Given the description of an element on the screen output the (x, y) to click on. 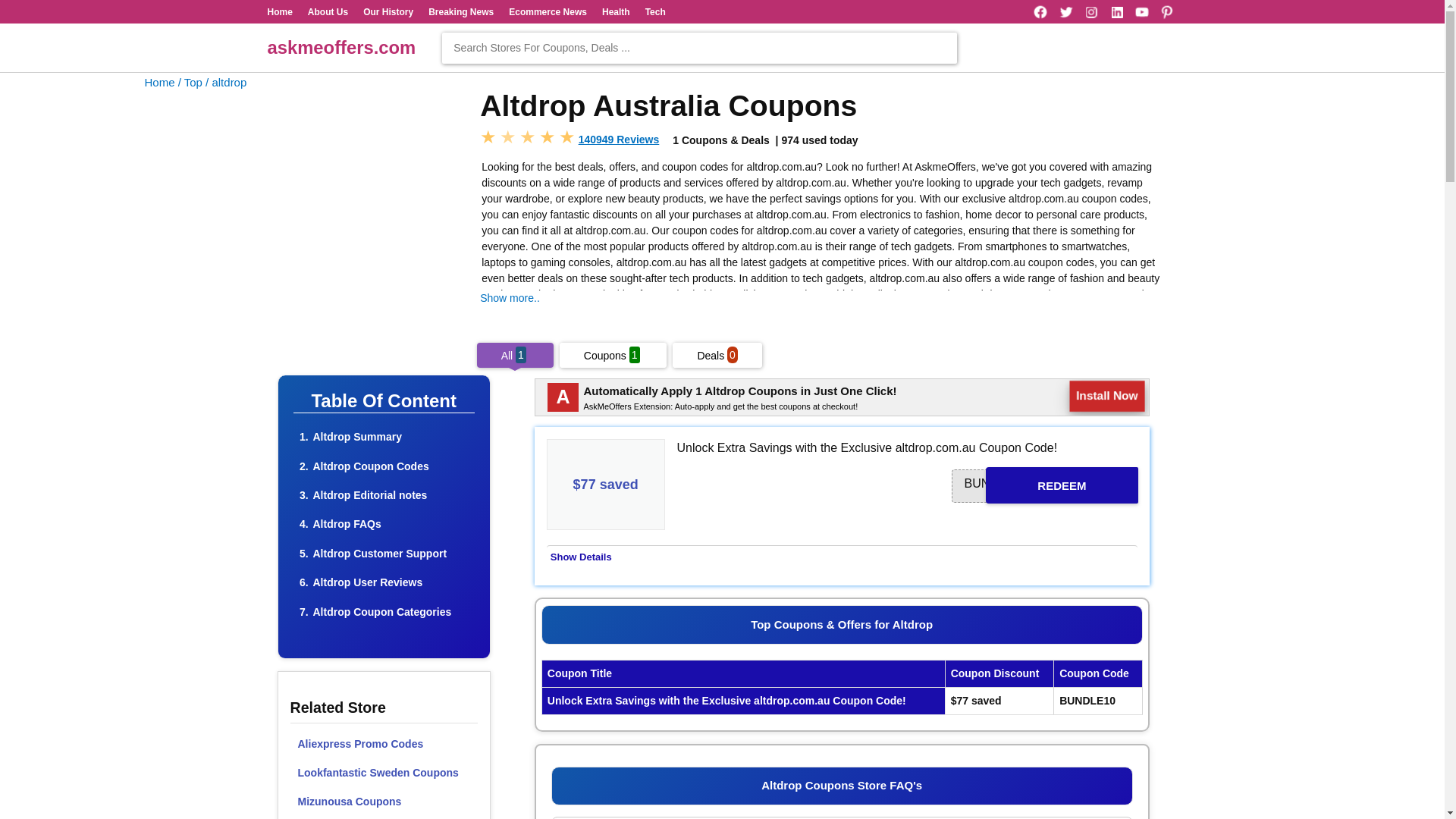
140949 Reviews (618, 139)
Facebook Page (1040, 12)
Breaking News (460, 11)
AskMeOffers - Best Deals and Coupons (340, 46)
Altdrop Customer Support (379, 553)
Lookfantastic Sweden Coupons (383, 772)
Deals 0 (716, 355)
Ecommerce News (547, 11)
Coupons 1 (612, 355)
Askmeoffers Homepage (159, 82)
